Given the description of an element on the screen output the (x, y) to click on. 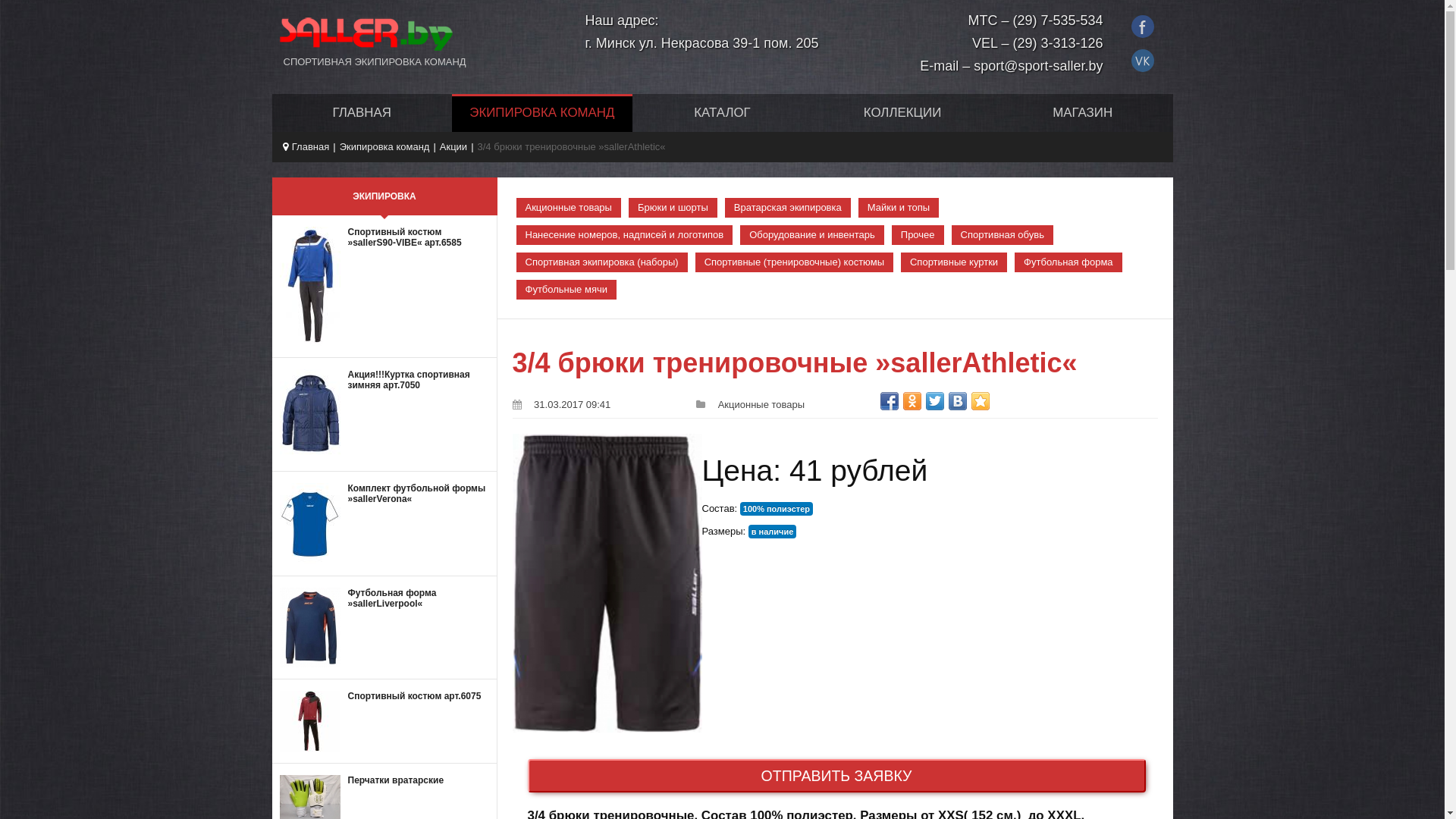
  Element type: text (1144, 22)
  Element type: text (1144, 56)
